Given the description of an element on the screen output the (x, y) to click on. 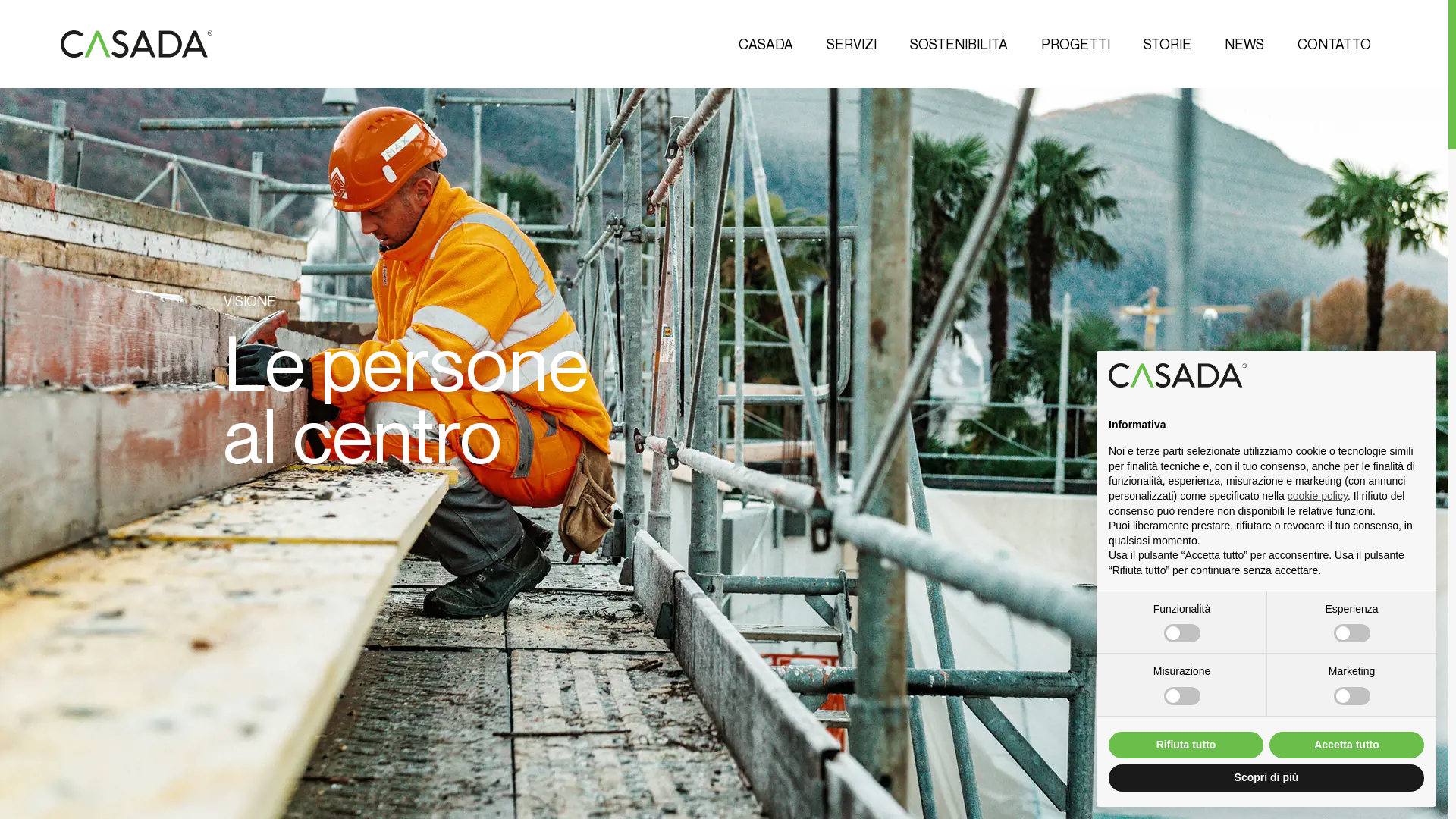
PRIVACY POLICY Element type: text (291, 495)
Credits Element type: text (82, 733)
NEWS Element type: text (1252, 44)
cookie policy Element type: text (1317, 495)
COOKIE POLICY Element type: text (290, 523)
+41 91 870 12 17 Element type: text (73, 523)
Rifiuta tutto Element type: text (1185, 745)
Linkedin Element type: text (1363, 733)
Terms of Service Element type: text (1118, 609)
STORIE Element type: text (1175, 44)
Privacy Policy Element type: text (1187, 599)
Accetta tutto Element type: text (1346, 745)
LINKEDIN Element type: text (652, 495)
CONTATTO Element type: text (1342, 44)
